Given the description of an element on the screen output the (x, y) to click on. 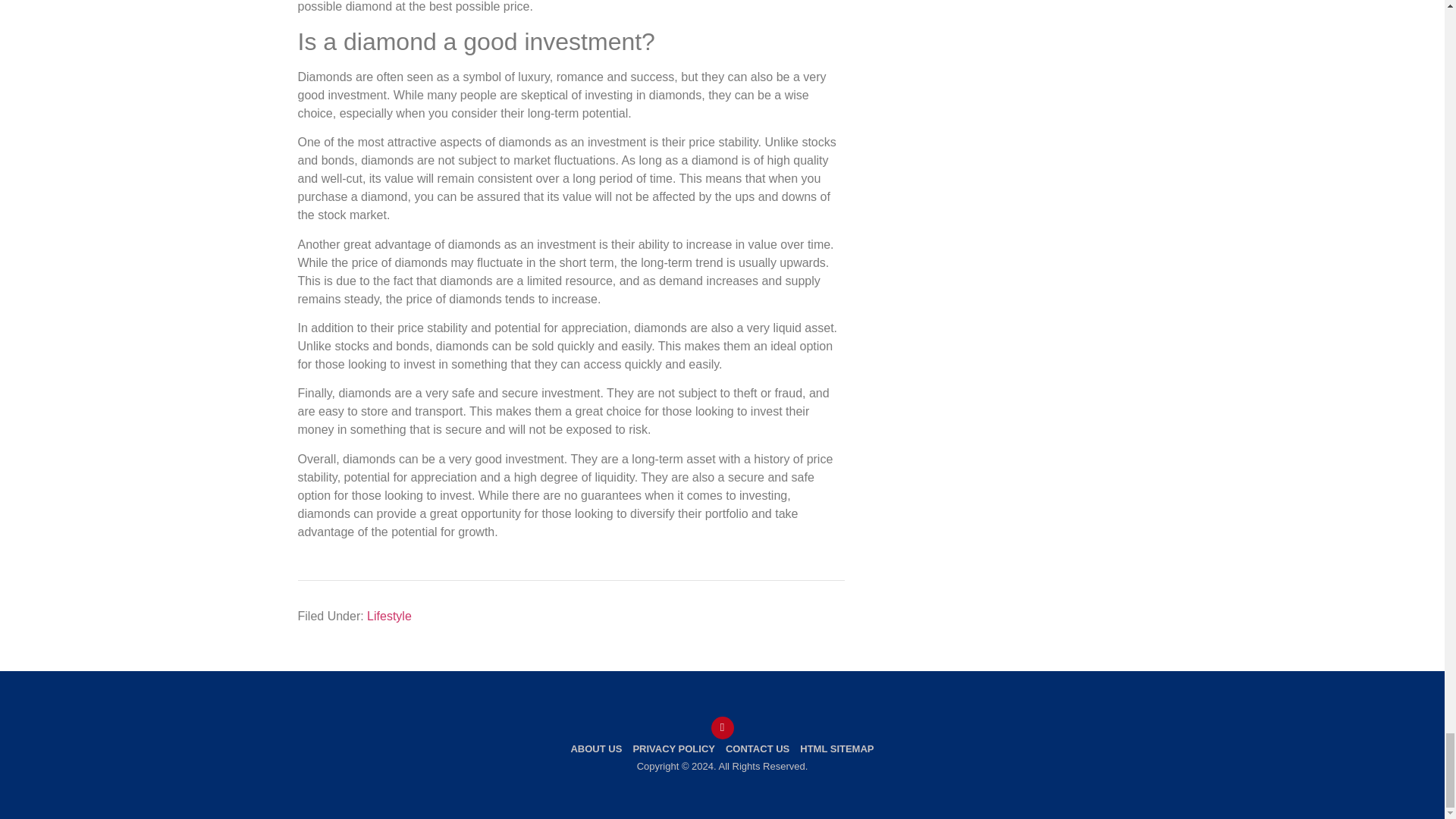
Lifestyle (389, 615)
